Given the description of an element on the screen output the (x, y) to click on. 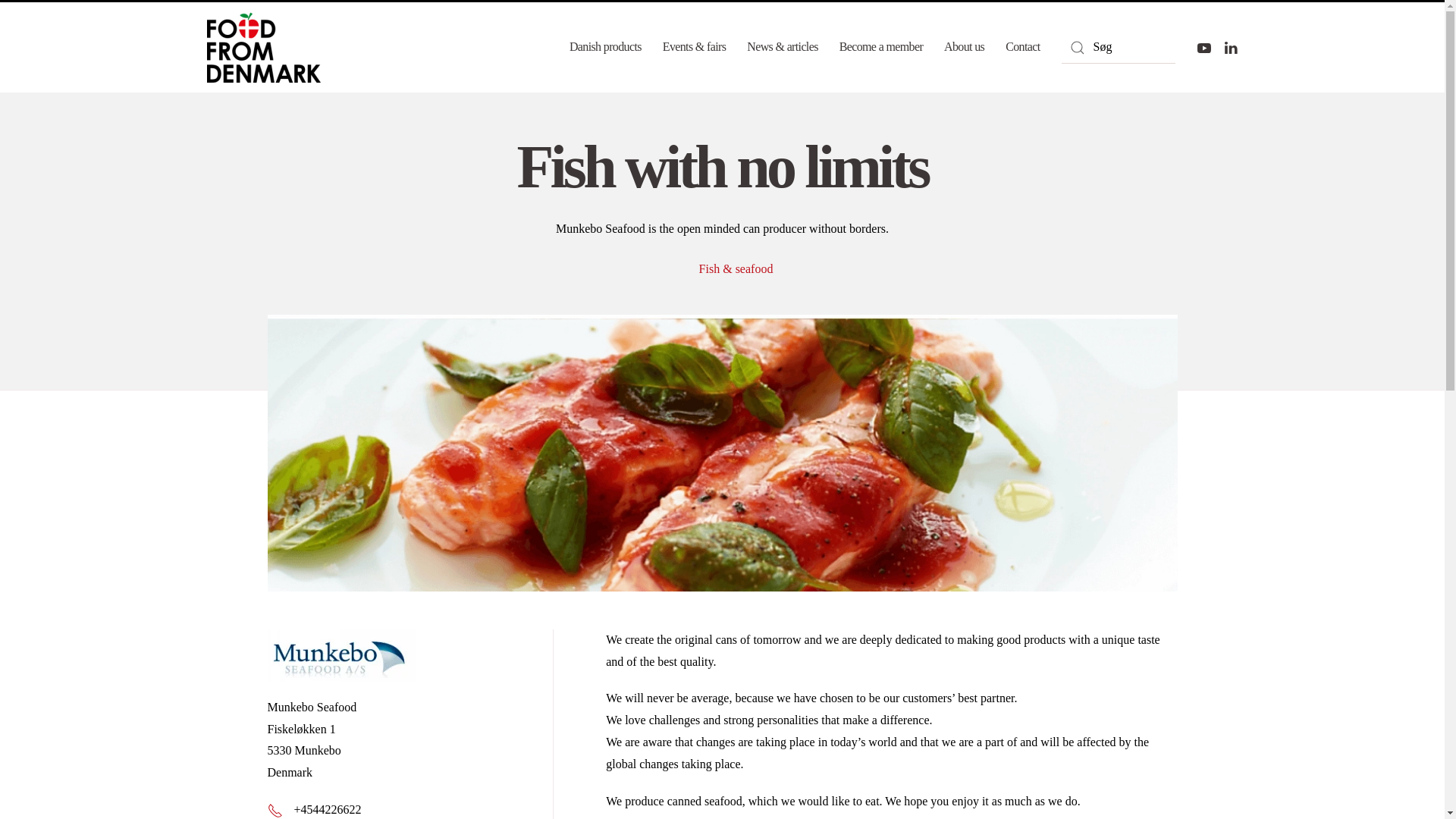
Danish products (605, 47)
Become a member (881, 47)
